Given the description of an element on the screen output the (x, y) to click on. 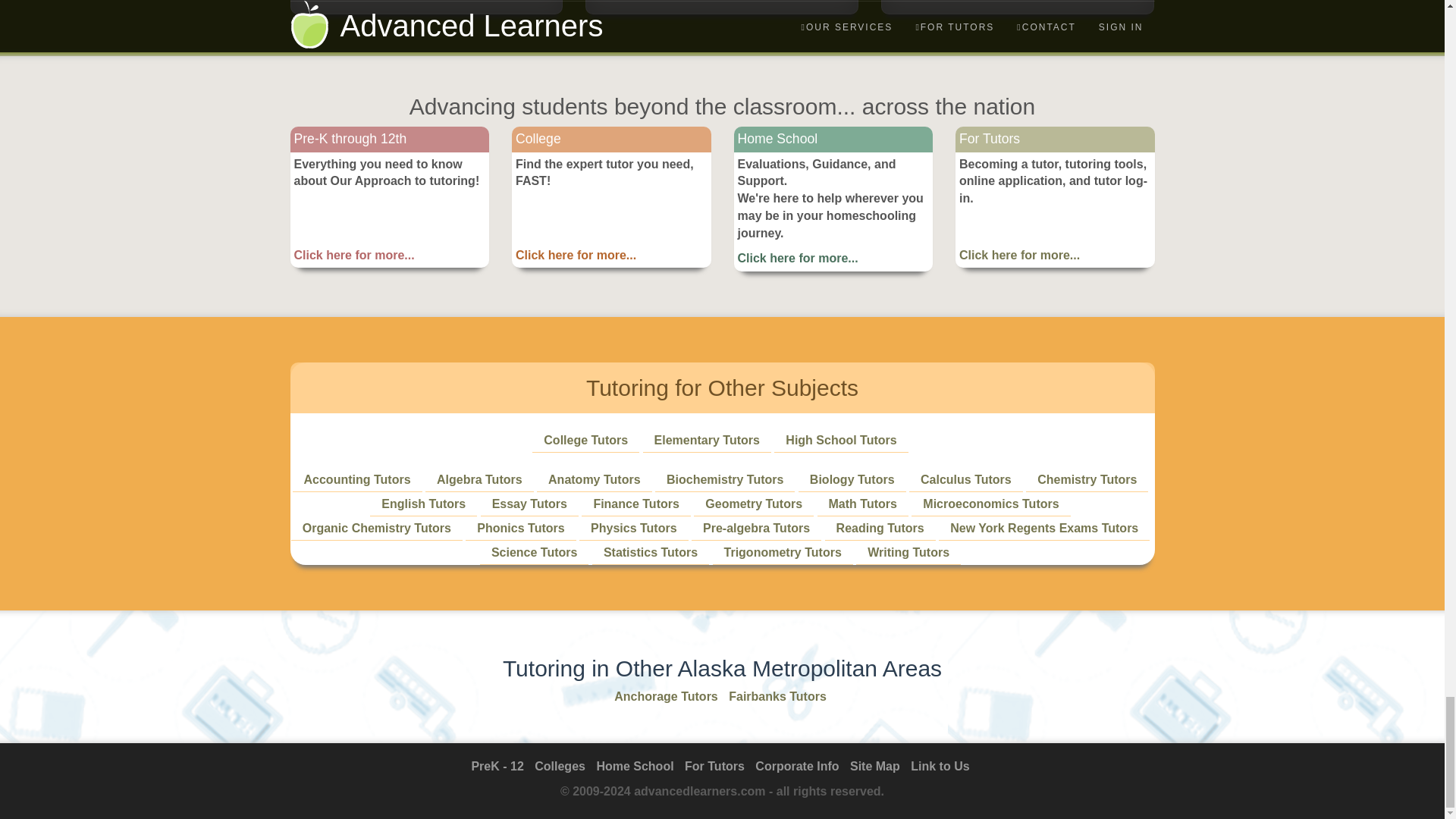
Biochemistry Tutors (724, 479)
Geometry Tutors (753, 503)
Organic Chemistry Tutors (376, 527)
Statistics Tutors (650, 552)
English Tutors (423, 503)
Chemistry Tutors (1086, 479)
Elementary Tutors (706, 440)
High School Tutors (841, 440)
Chemistry Tutors (1086, 479)
Essay Tutors (529, 503)
High School Tutors (841, 440)
Geometry Tutors (753, 503)
